Given the description of an element on the screen output the (x, y) to click on. 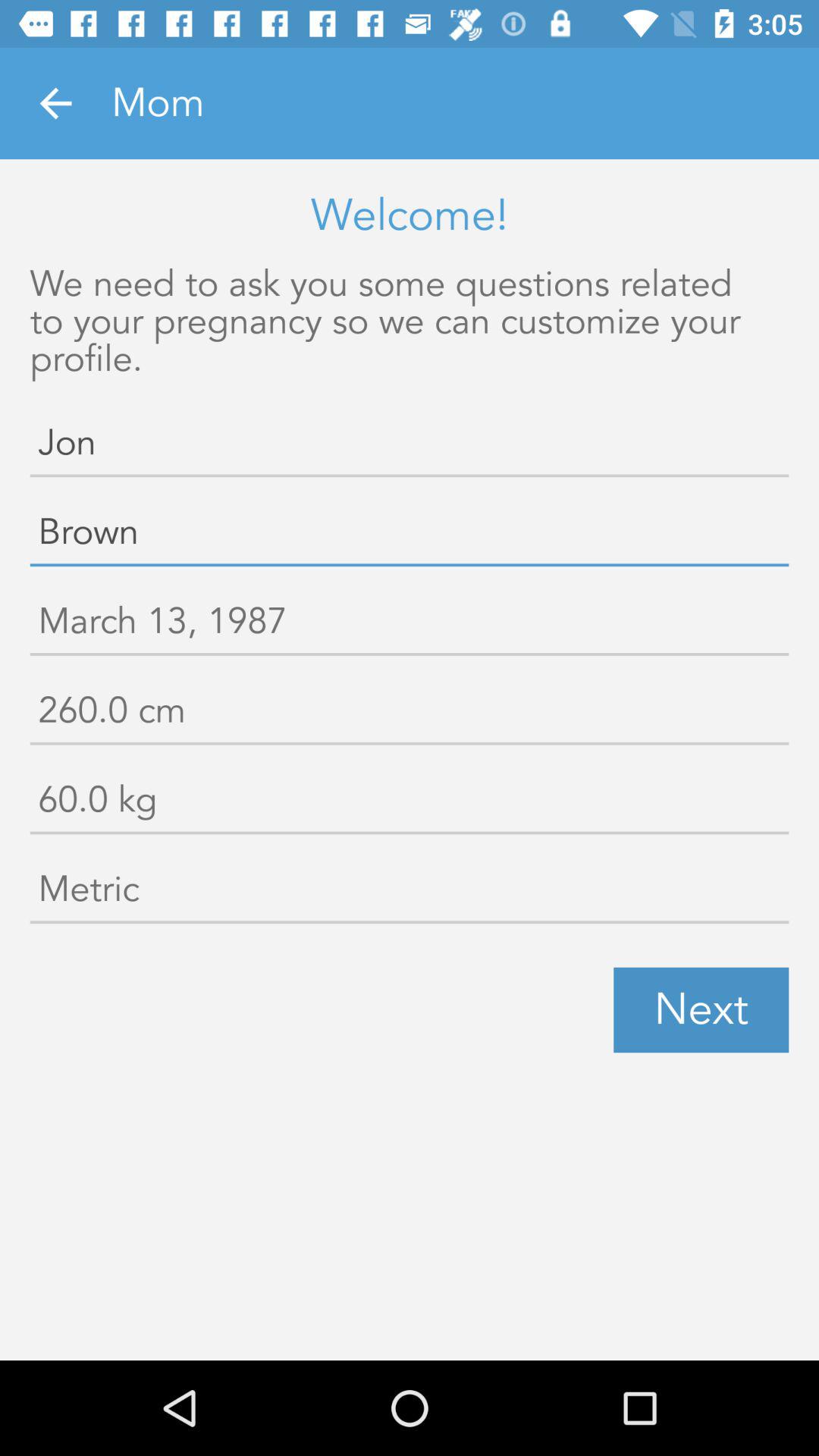
scroll until next item (700, 1009)
